Given the description of an element on the screen output the (x, y) to click on. 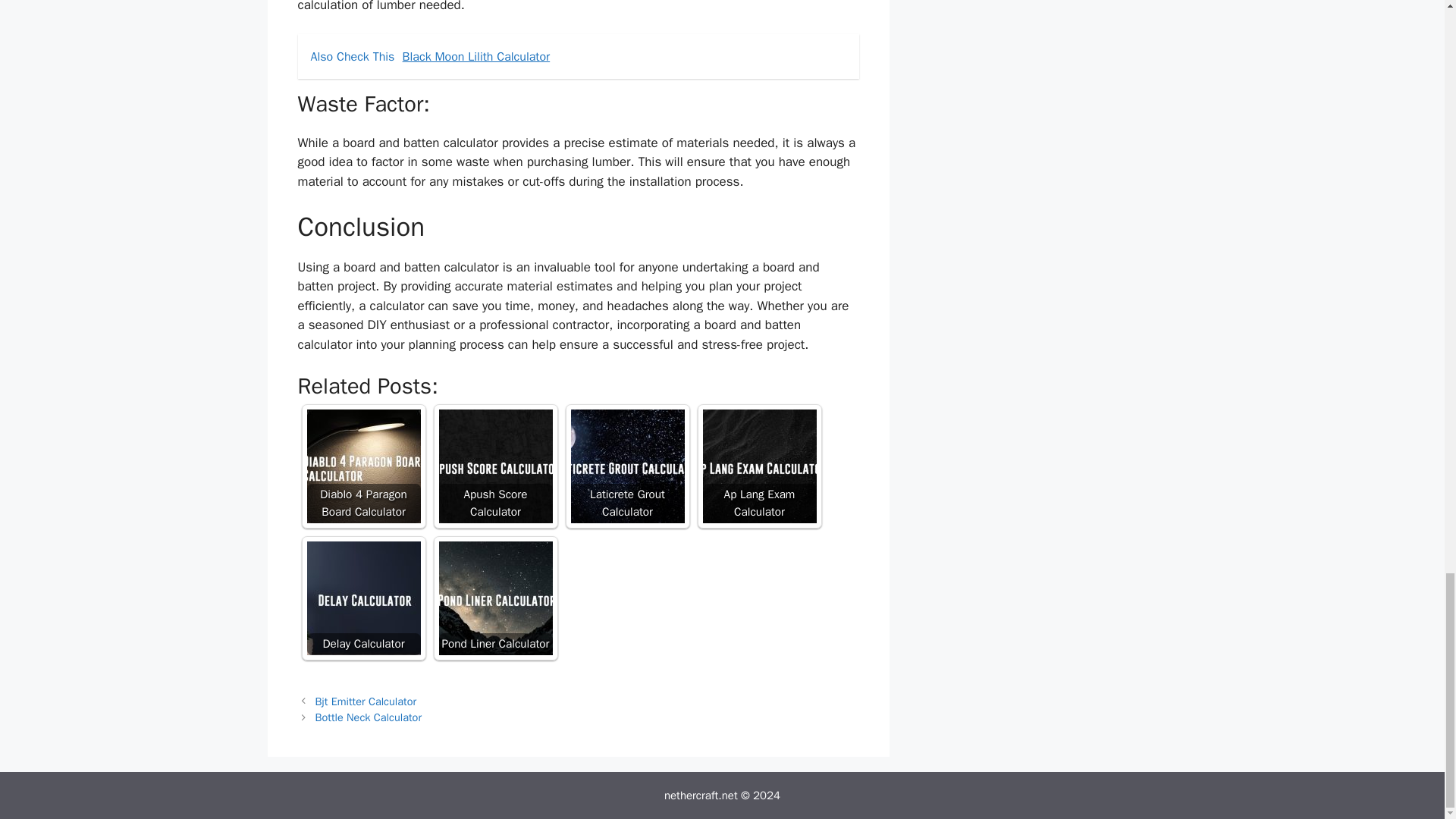
Pond Liner Calculator (494, 598)
Diablo 4 Paragon Board Calculator (362, 466)
Laticrete Grout Calculator (627, 466)
Ap Lang Exam Calculator (758, 466)
Apush Score Calculator (494, 466)
Bjt Emitter Calculator (365, 701)
Bottle Neck Calculator (368, 716)
Diablo 4 Paragon Board Calculator (362, 466)
Laticrete Grout Calculator (627, 466)
Apush Score Calculator (494, 466)
